Given the description of an element on the screen output the (x, y) to click on. 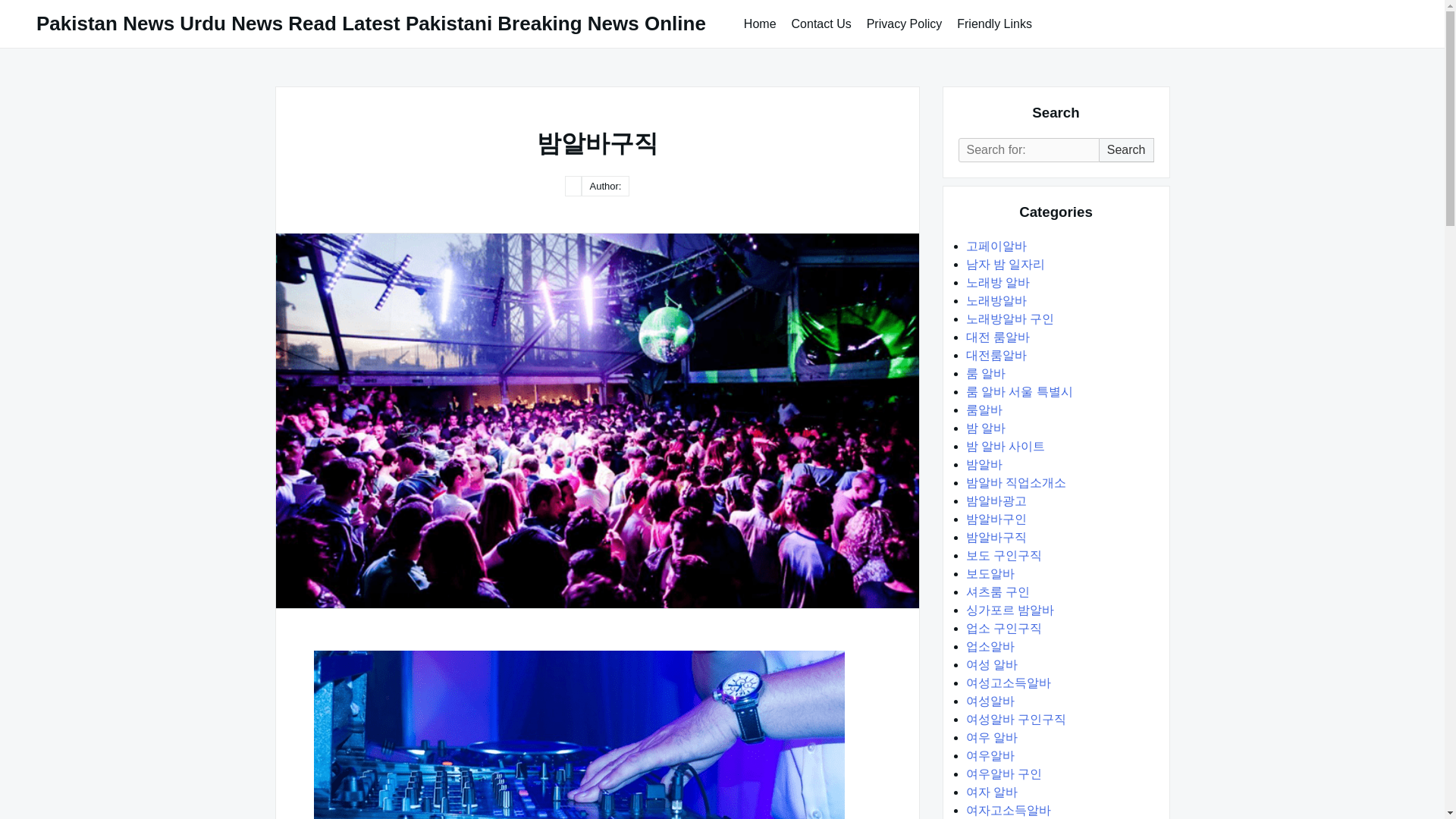
Search (1126, 150)
Friendly Links (994, 23)
Contact Us (821, 23)
Home (760, 23)
Privacy Policy (904, 23)
